Given the description of an element on the screen output the (x, y) to click on. 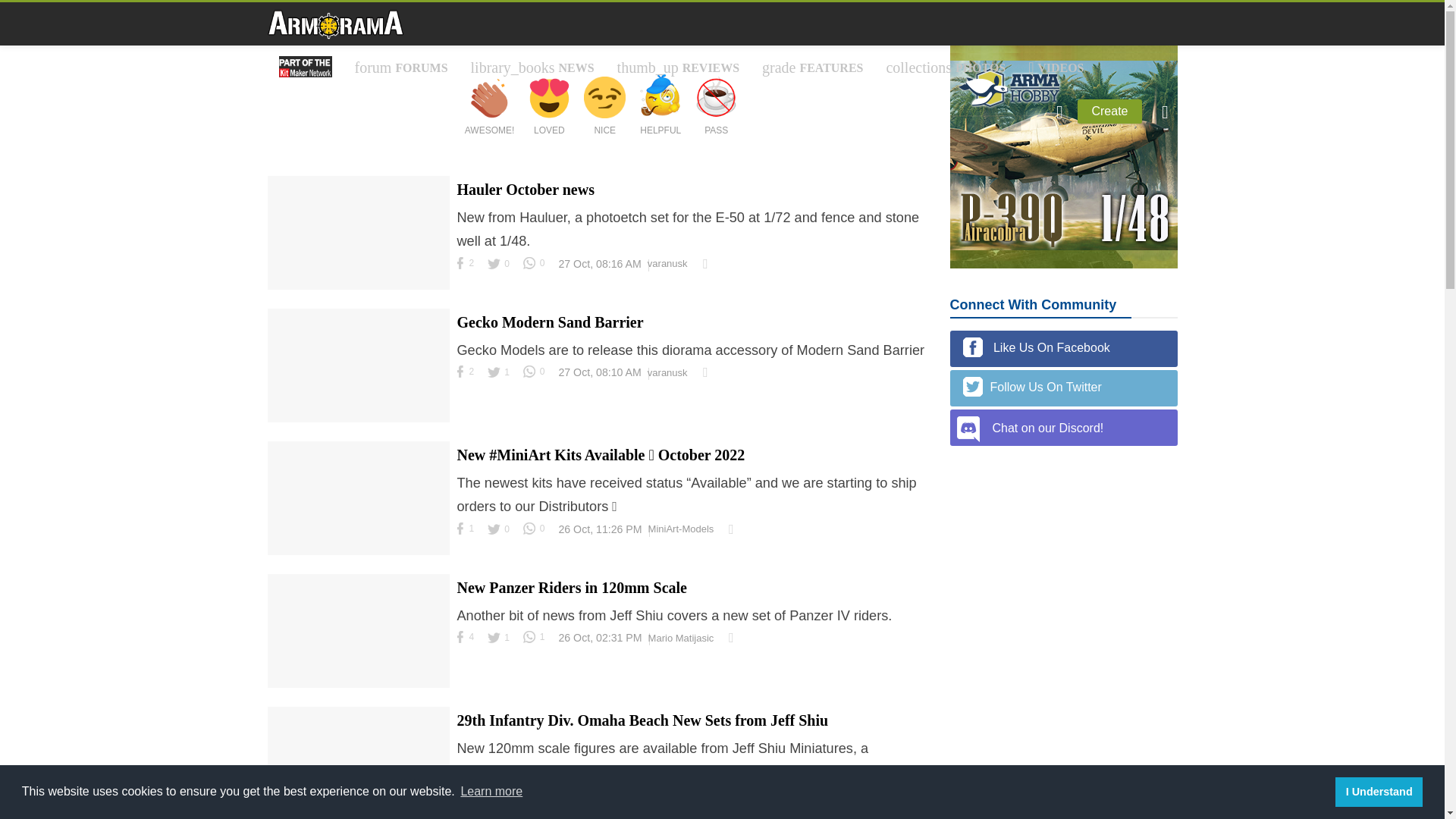
Prior Site Archive (439, 215)
Create (1109, 111)
About Us (419, 215)
I Understand (1378, 791)
Privacy Policy (431, 215)
Terms of Service (437, 215)
About Us (419, 215)
Learn more (491, 791)
Privacy Policy (431, 215)
forum FORUMS (400, 67)
collections PHOTOS (945, 67)
Prior Site Archive (439, 215)
grade FEATURES (813, 67)
Log in (409, 213)
sign up (409, 213)
